Given the description of an element on the screen output the (x, y) to click on. 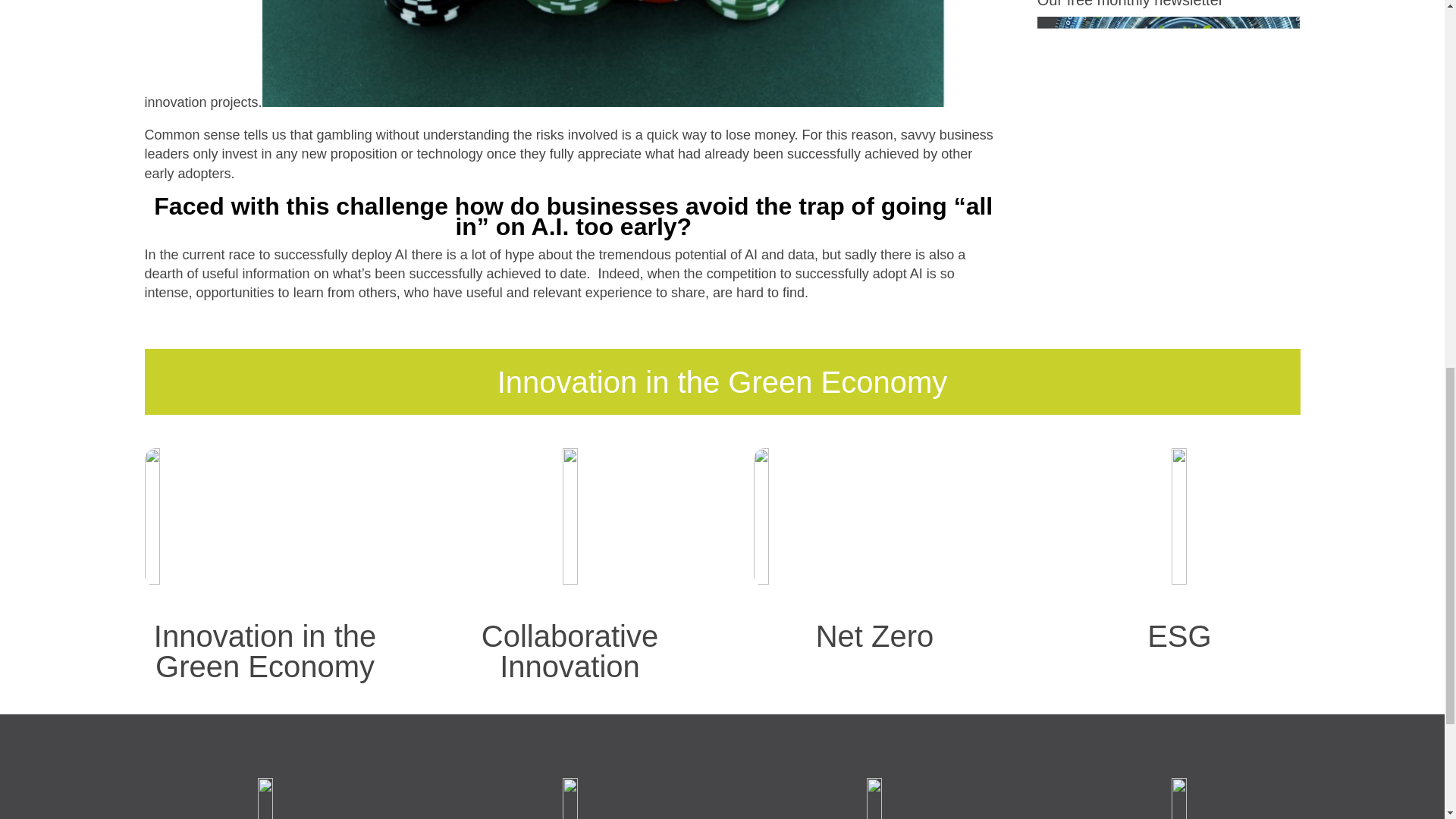
Newsletter subscribe footer button (1179, 798)
Contact Us 2 (264, 798)
Schedule a Meeting (569, 798)
ESG - Marketing Knowledge (1179, 515)
Linkedin - follow us button (874, 798)
